Given the description of an element on the screen output the (x, y) to click on. 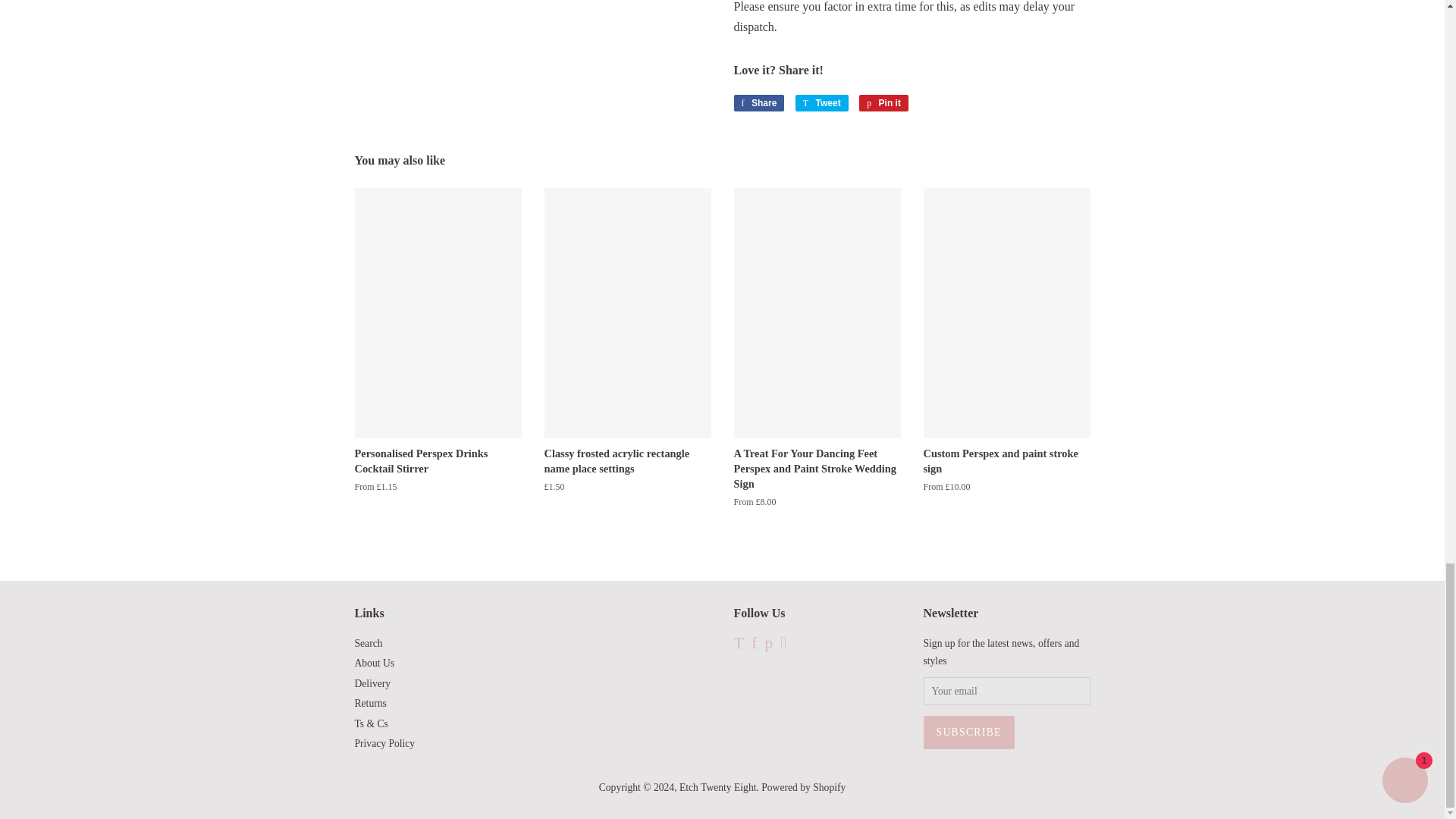
Pin on Pinterest (883, 103)
Subscribe (968, 732)
Share on Facebook (758, 103)
Tweet on Twitter (821, 103)
